Given the description of an element on the screen output the (x, y) to click on. 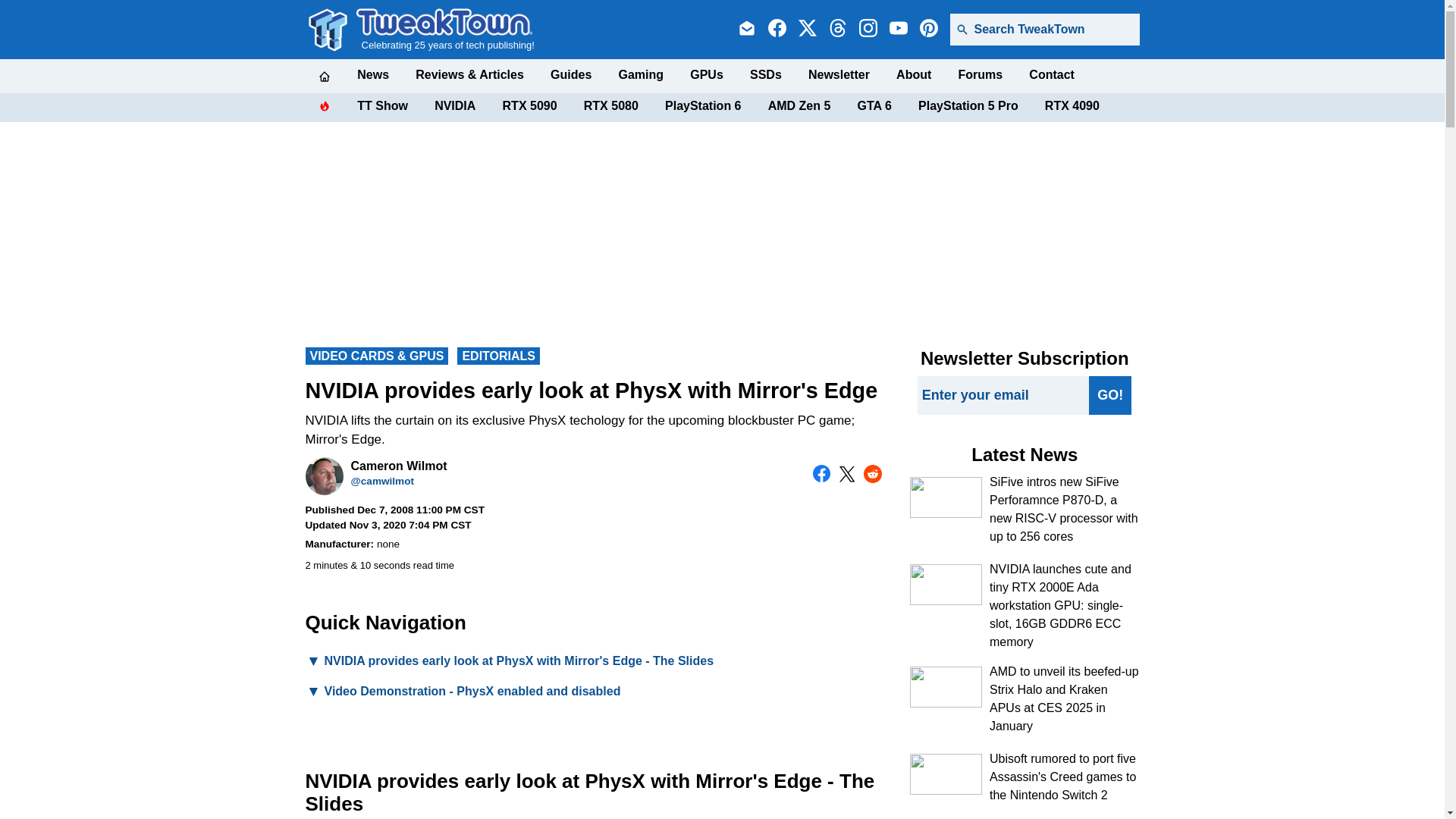
Share on Reddit (871, 474)
Celebrating 25 years of tech publishing! (445, 29)
GO! (1110, 394)
Cameron Wilmot (323, 476)
Share on X (847, 474)
News (372, 74)
Share on Facebook (821, 474)
